Given the description of an element on the screen output the (x, y) to click on. 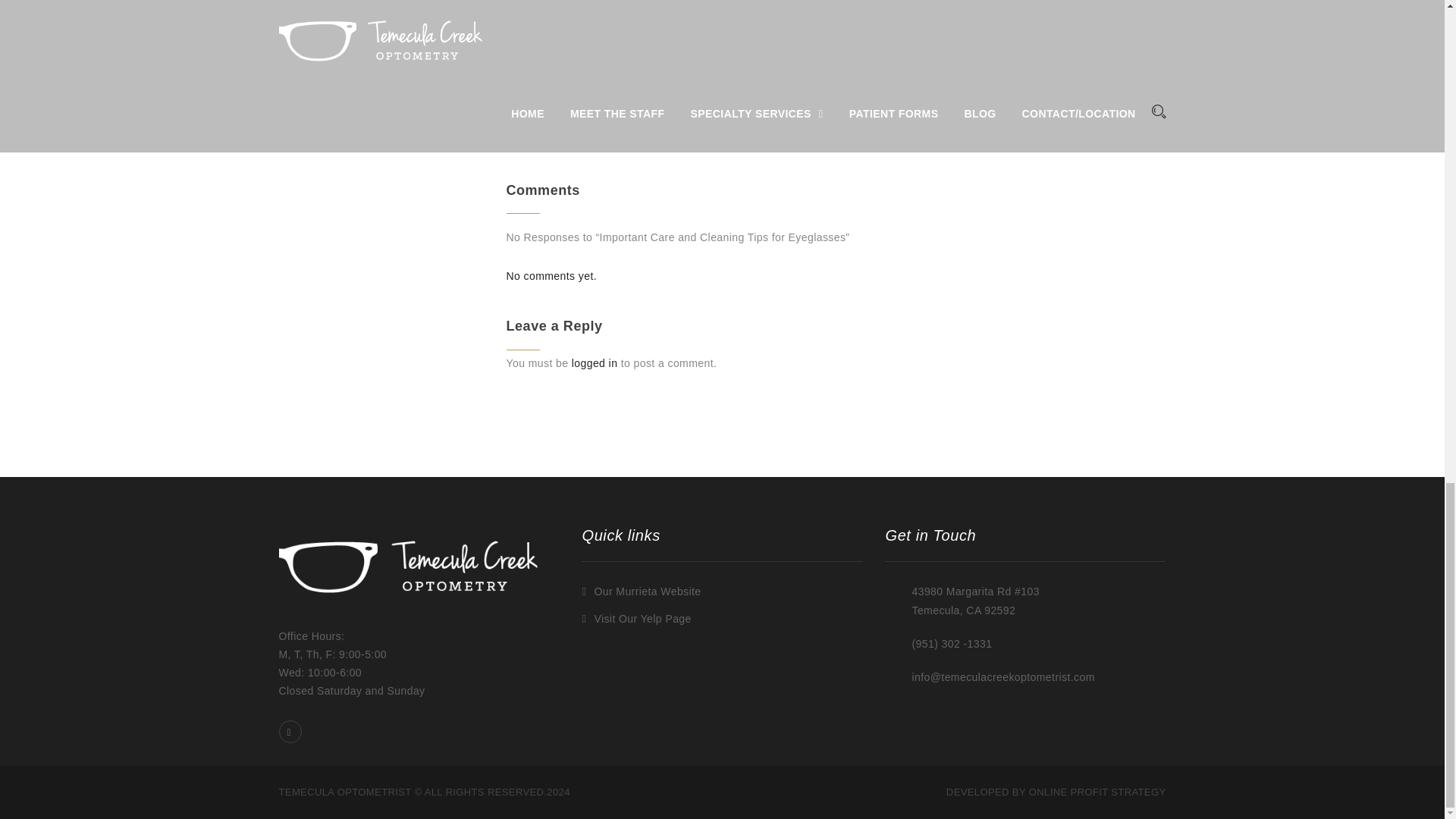
Our Murrieta Website (640, 591)
Previous Post (548, 137)
designer frames (576, 28)
ONLINE PROFIT STRATEGY (1097, 791)
Facebook (291, 731)
Tips to Help a Child Adjust to Wearing Glasses (548, 137)
Temecula optometrist (743, 28)
Eye Glasses (591, 96)
logged in (594, 363)
Next Post (1135, 137)
